Given the description of an element on the screen output the (x, y) to click on. 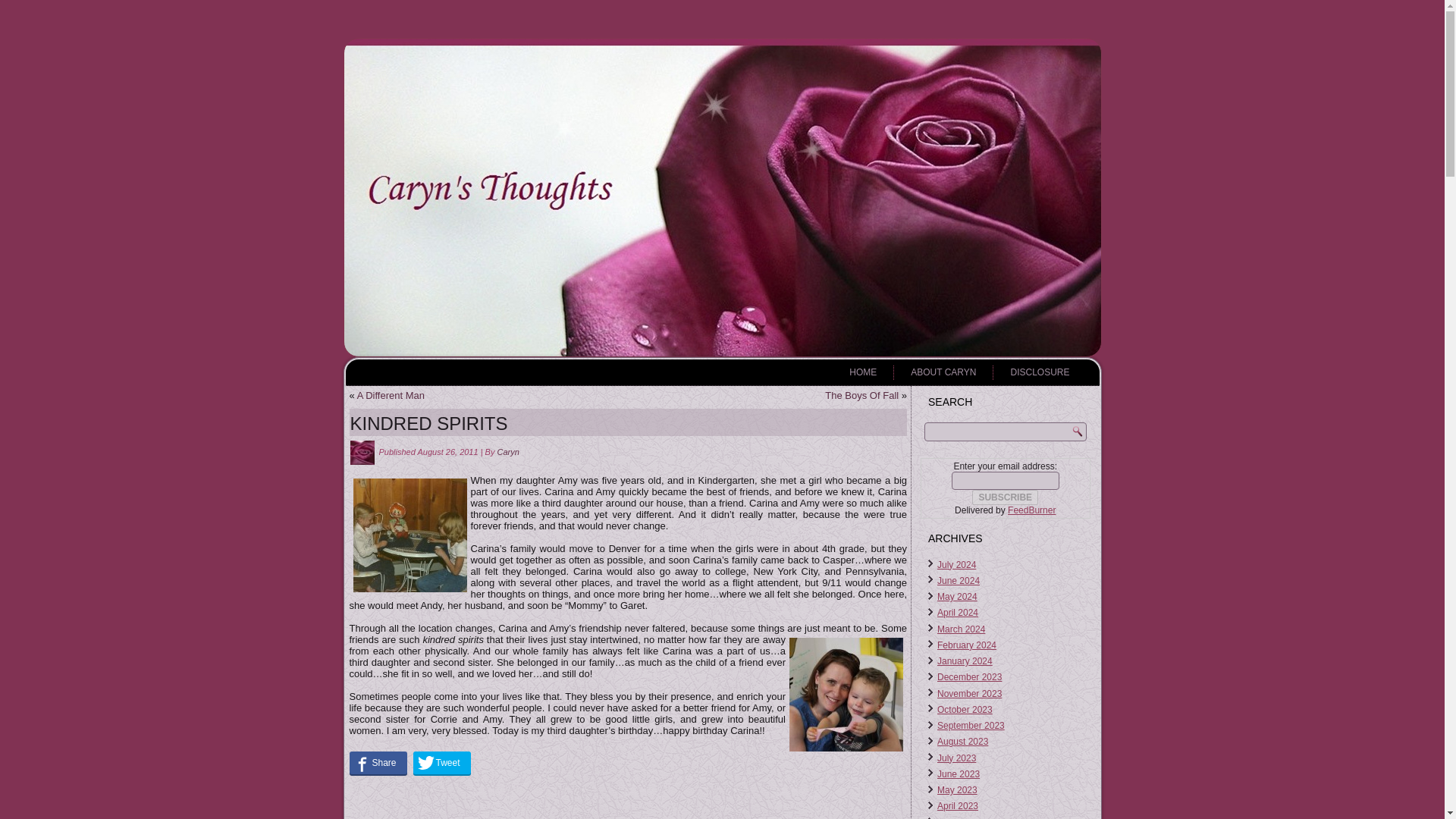
FeedBurner (1031, 510)
Tweet (441, 762)
About Caryn (943, 371)
Share on Facebook (377, 762)
HOME (862, 371)
Disclosure (1039, 371)
June 2024 (958, 580)
The Boys Of Fall (861, 395)
The Tea Party - Amy and Carina (410, 535)
Caryn (508, 451)
DISCLOSURE (1039, 371)
Home (862, 371)
Subscribe (1005, 497)
The Boys Of Fall (861, 395)
July 2024 (956, 564)
